Given the description of an element on the screen output the (x, y) to click on. 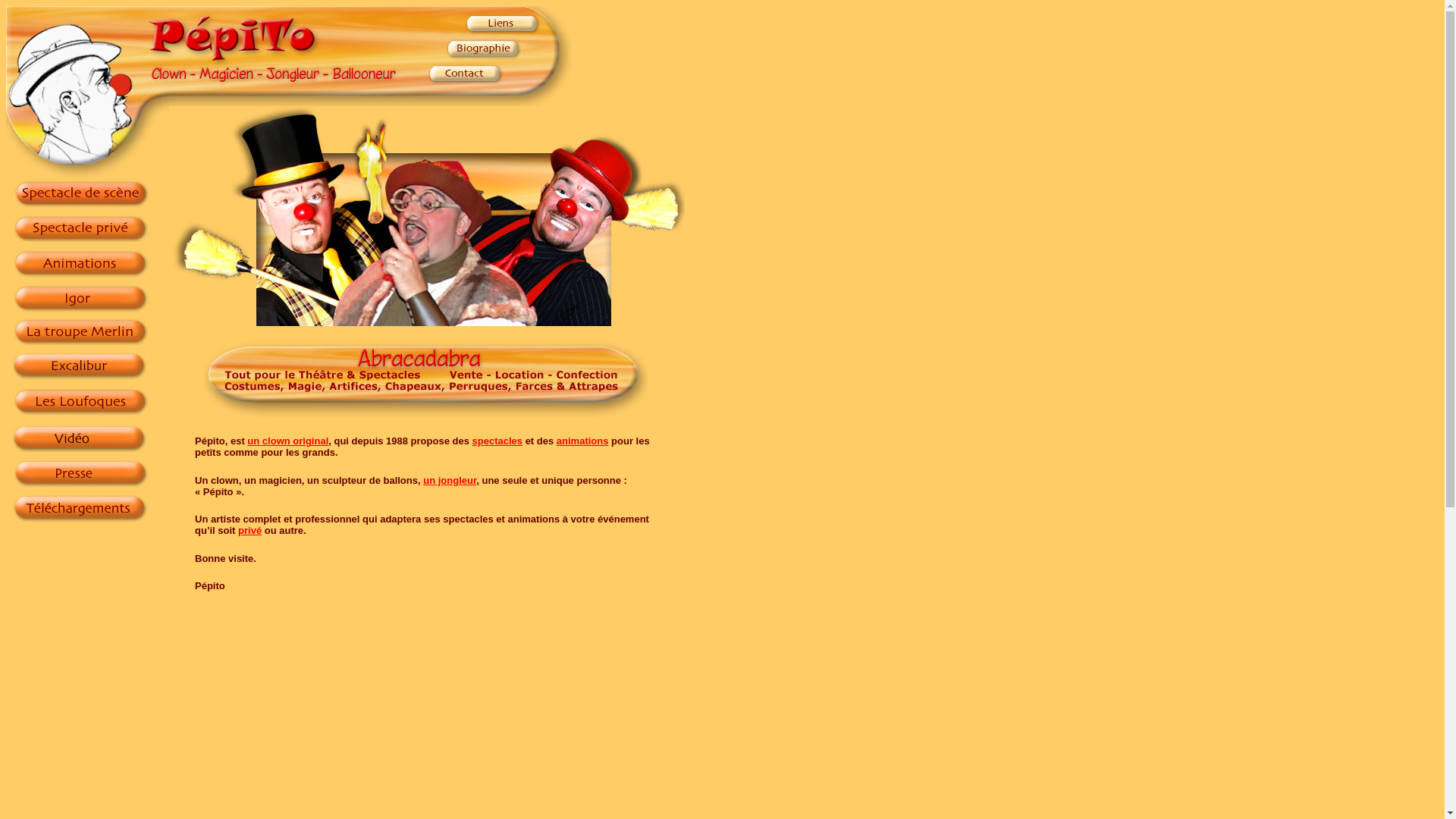
un jongleur Element type: text (449, 480)
animations Element type: text (582, 440)
spectacles Element type: text (497, 440)
un clown original Element type: text (287, 440)
